Given the description of an element on the screen output the (x, y) to click on. 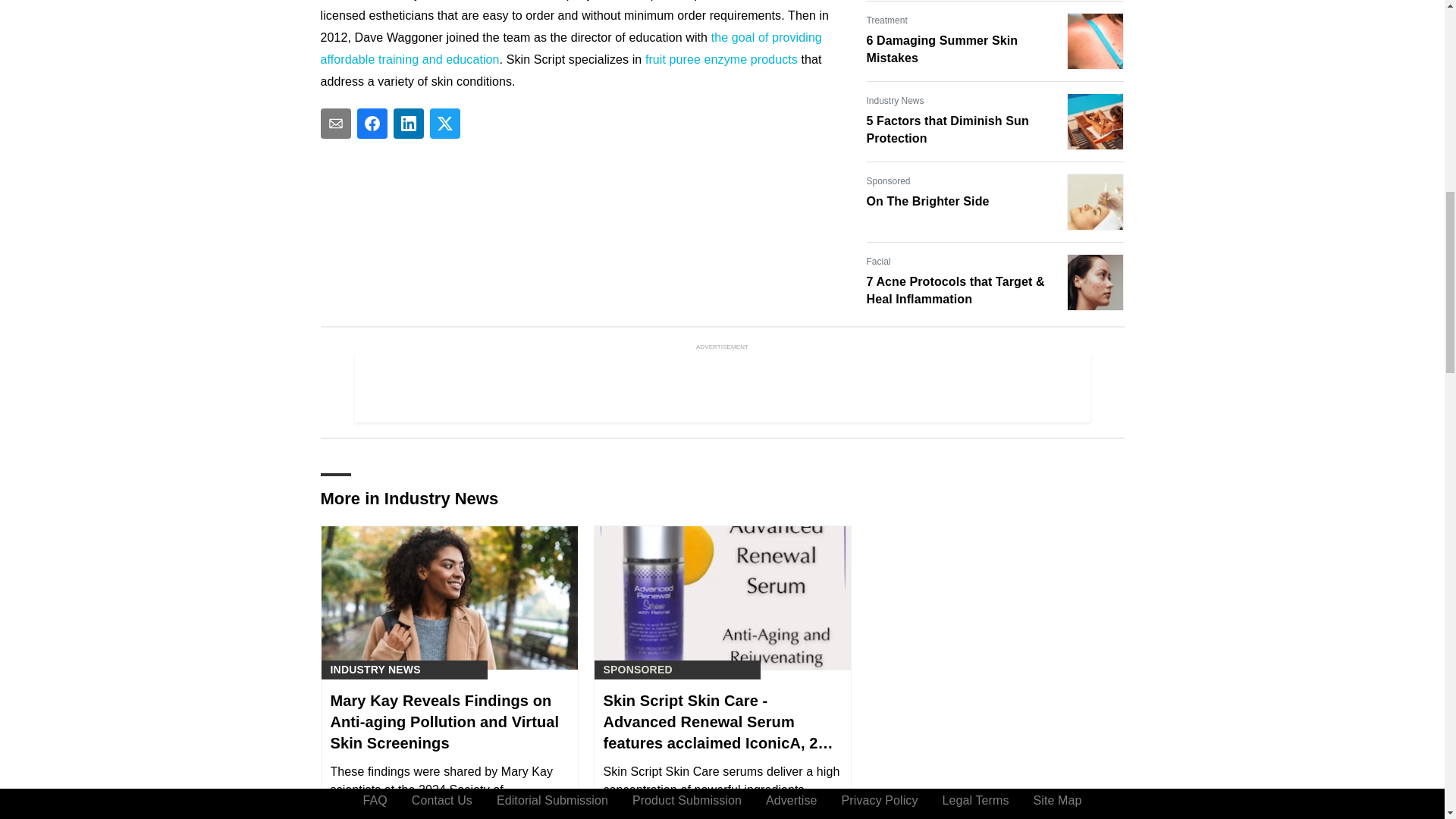
Share To linkedin (408, 123)
Share To facebook (371, 123)
Share To email (335, 123)
Share To twitter (444, 123)
Treatment (886, 20)
